Given the description of an element on the screen output the (x, y) to click on. 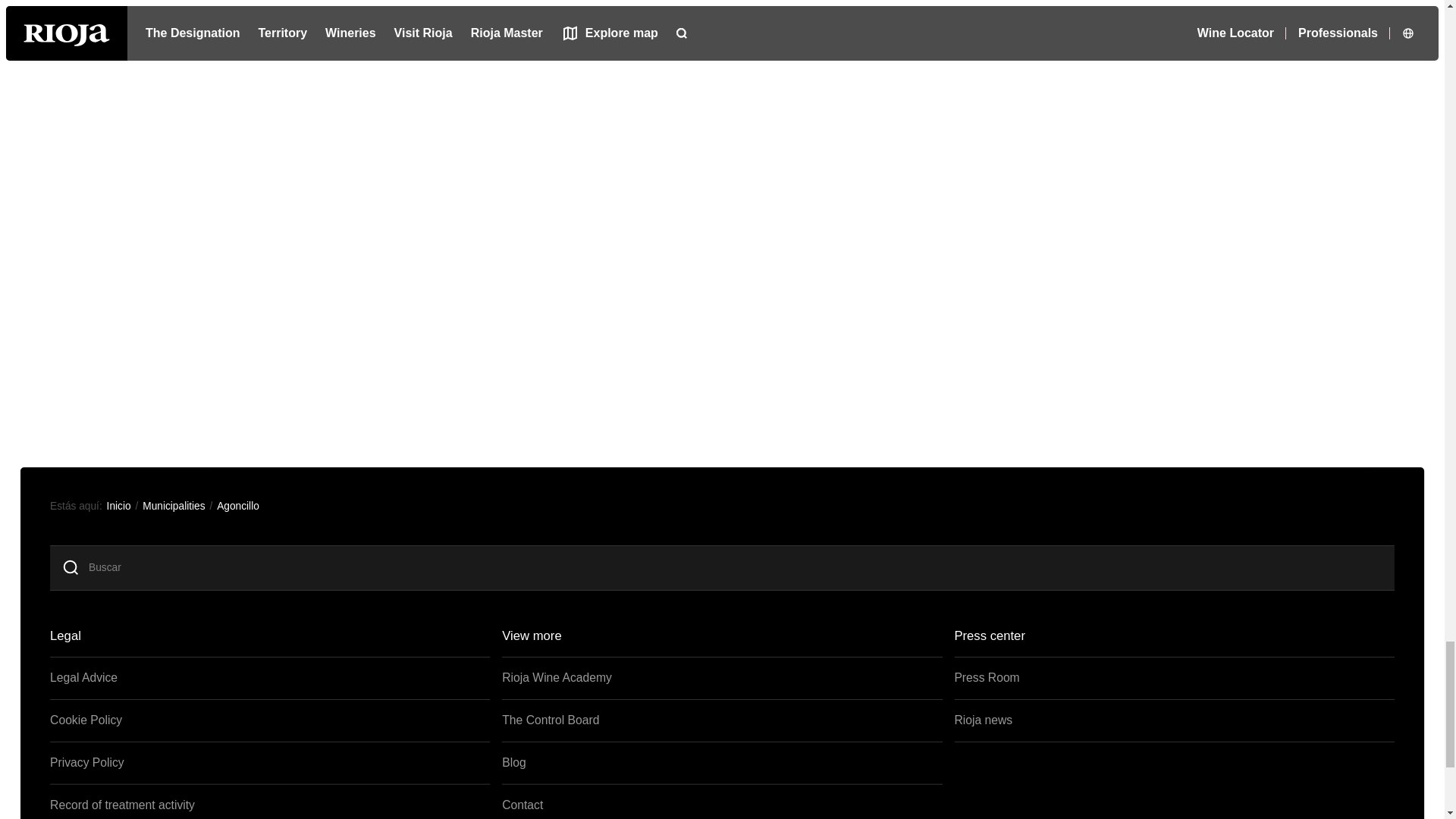
Buscar (739, 567)
